Given the description of an element on the screen output the (x, y) to click on. 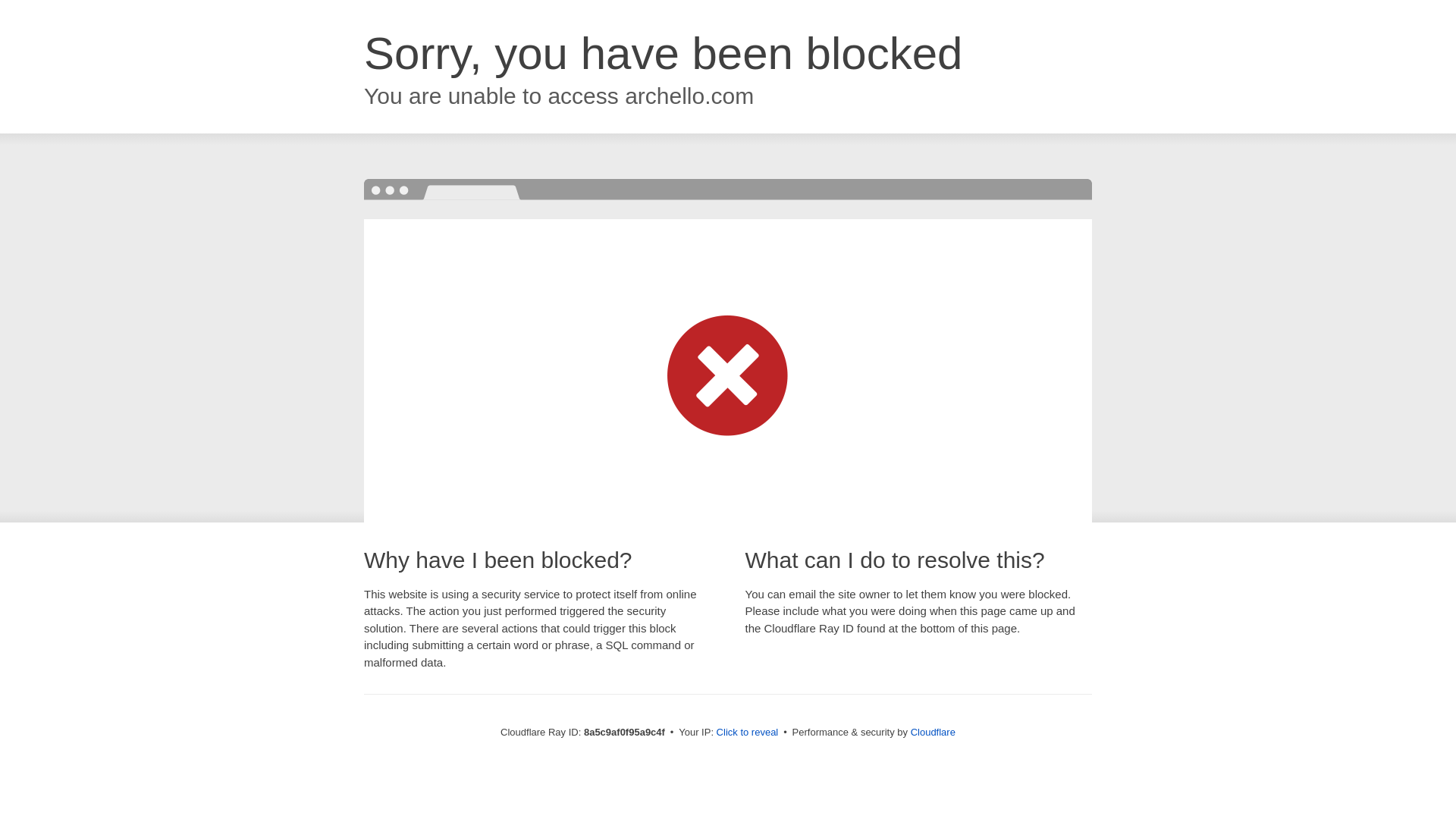
Click to reveal (747, 732)
Cloudflare (933, 731)
